Given the description of an element on the screen output the (x, y) to click on. 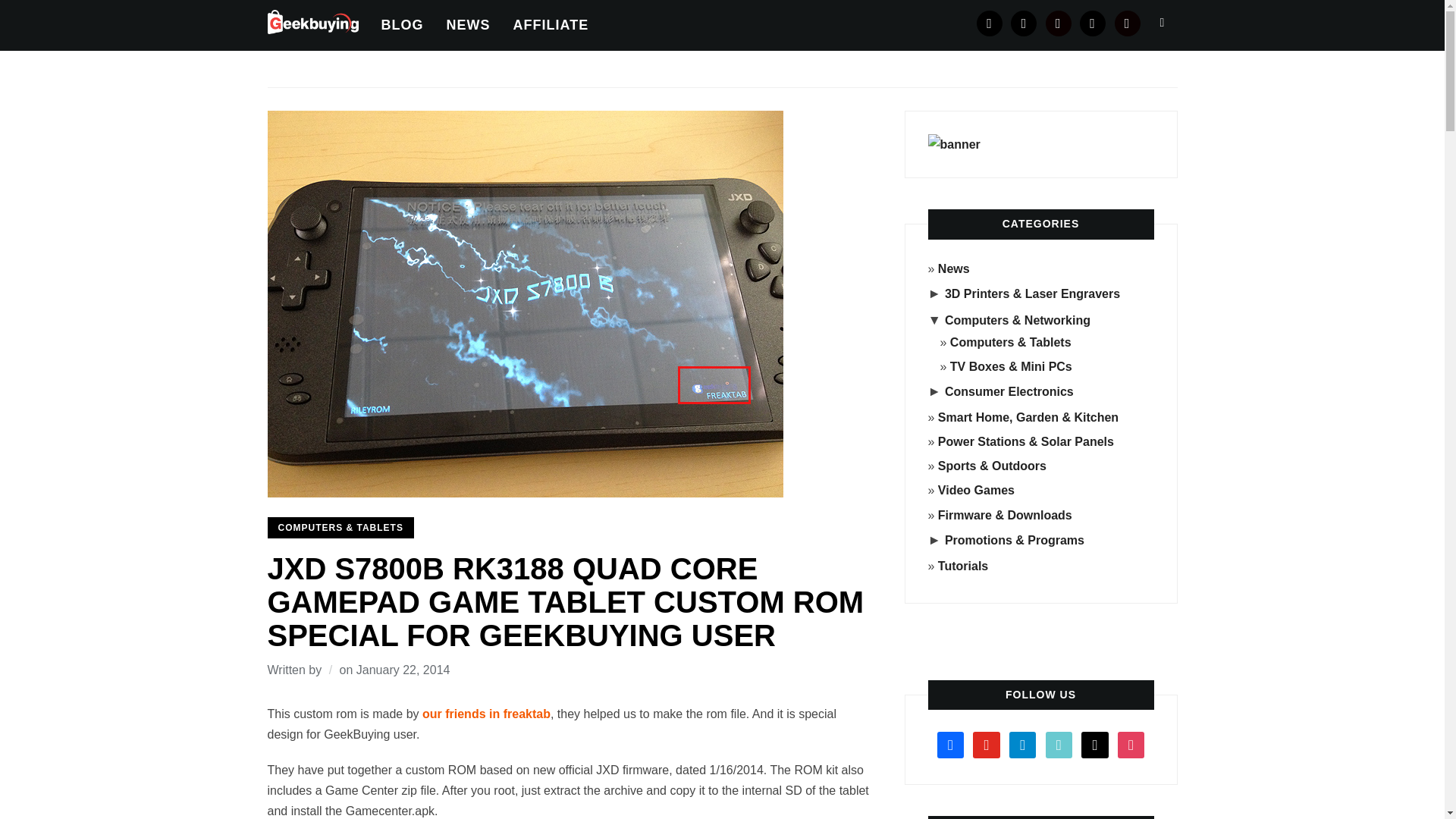
our friends in freaktab (486, 713)
AFFILIATE (550, 25)
Instagram (1058, 22)
Search (1161, 22)
X (1092, 22)
NEWS (467, 25)
BLOG (401, 25)
Facebook (989, 22)
